Given the description of an element on the screen output the (x, y) to click on. 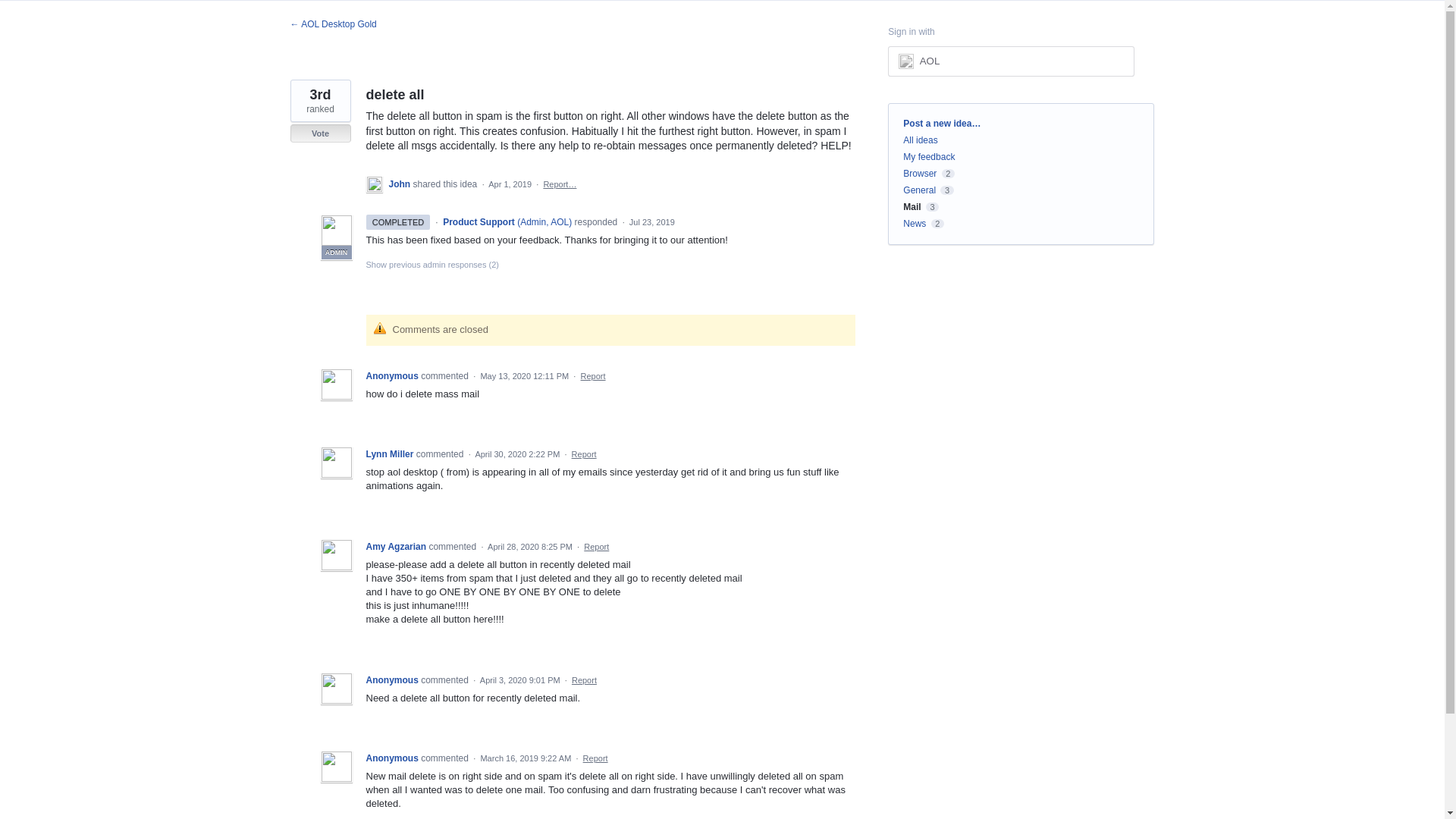
View all ideas in category General (919, 190)
View all ideas in category Browser (919, 173)
Amy Agzarian (396, 546)
Report (592, 375)
This idea is Completed - updated almost 5 years ago (397, 222)
Idea has been closed (319, 133)
Vote (319, 133)
Report (584, 453)
COMPLETED (397, 222)
AOL sign in (1011, 60)
AOL (930, 60)
John (400, 184)
Anonymous (392, 376)
Report (595, 546)
Skip to content (12, 12)
